Given the description of an element on the screen output the (x, y) to click on. 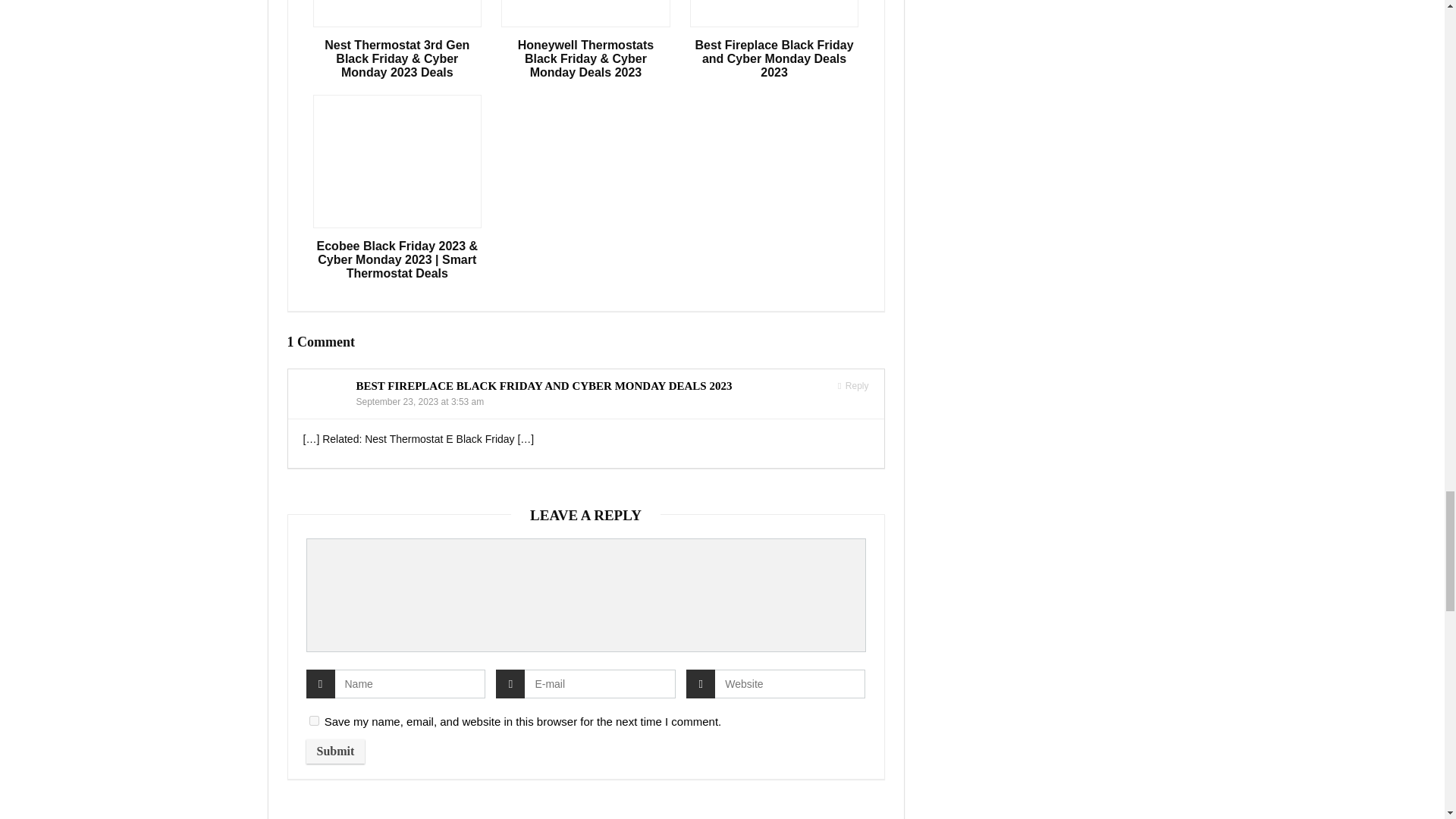
yes (313, 720)
Submit (335, 751)
Best Fireplace Black Friday and Cyber Monday Deals 2023 (774, 58)
